Given the description of an element on the screen output the (x, y) to click on. 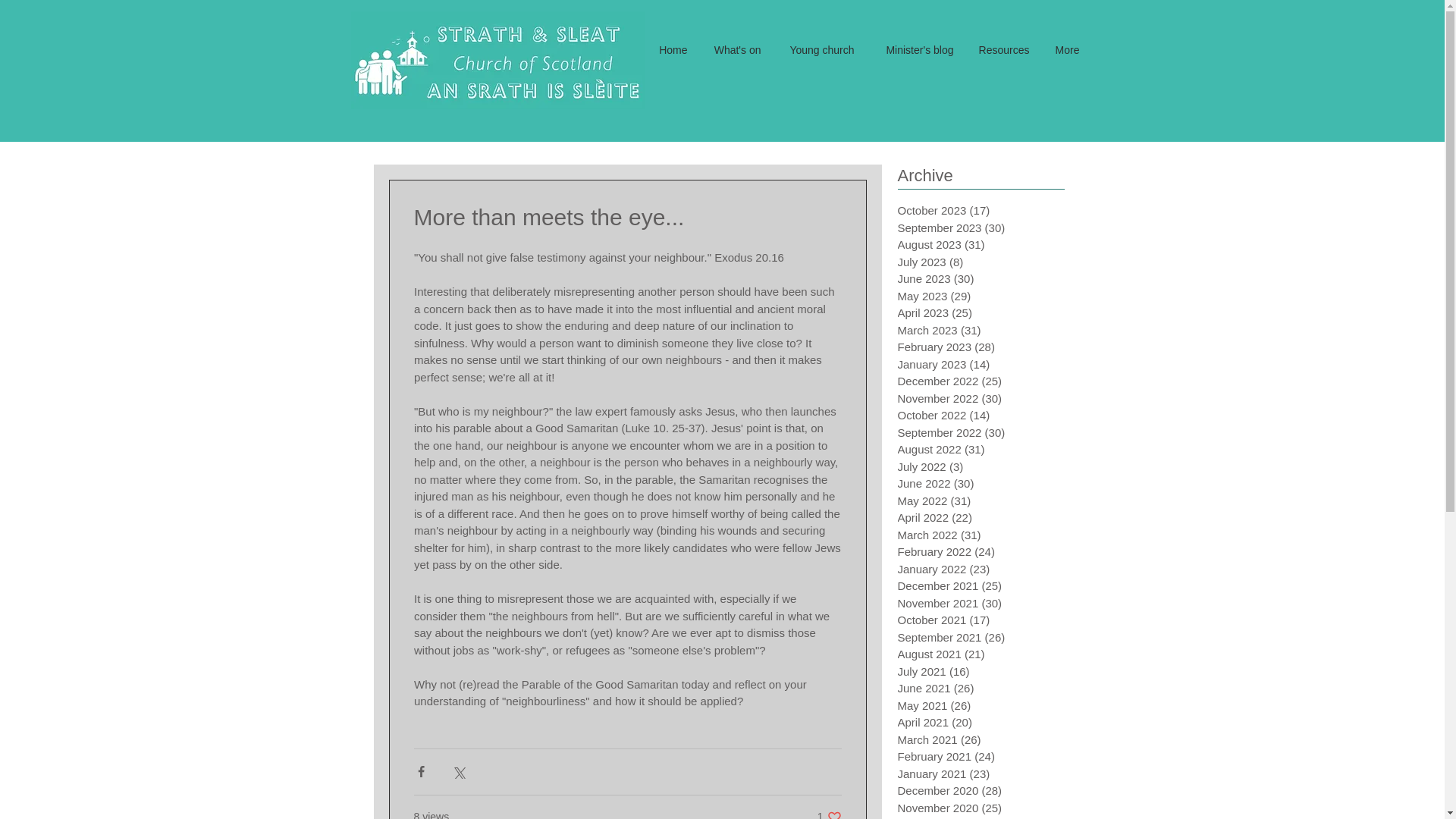
Minister's blog (915, 50)
Home (671, 50)
What's on (735, 50)
Young church (817, 50)
Resources (1002, 50)
